Given the description of an element on the screen output the (x, y) to click on. 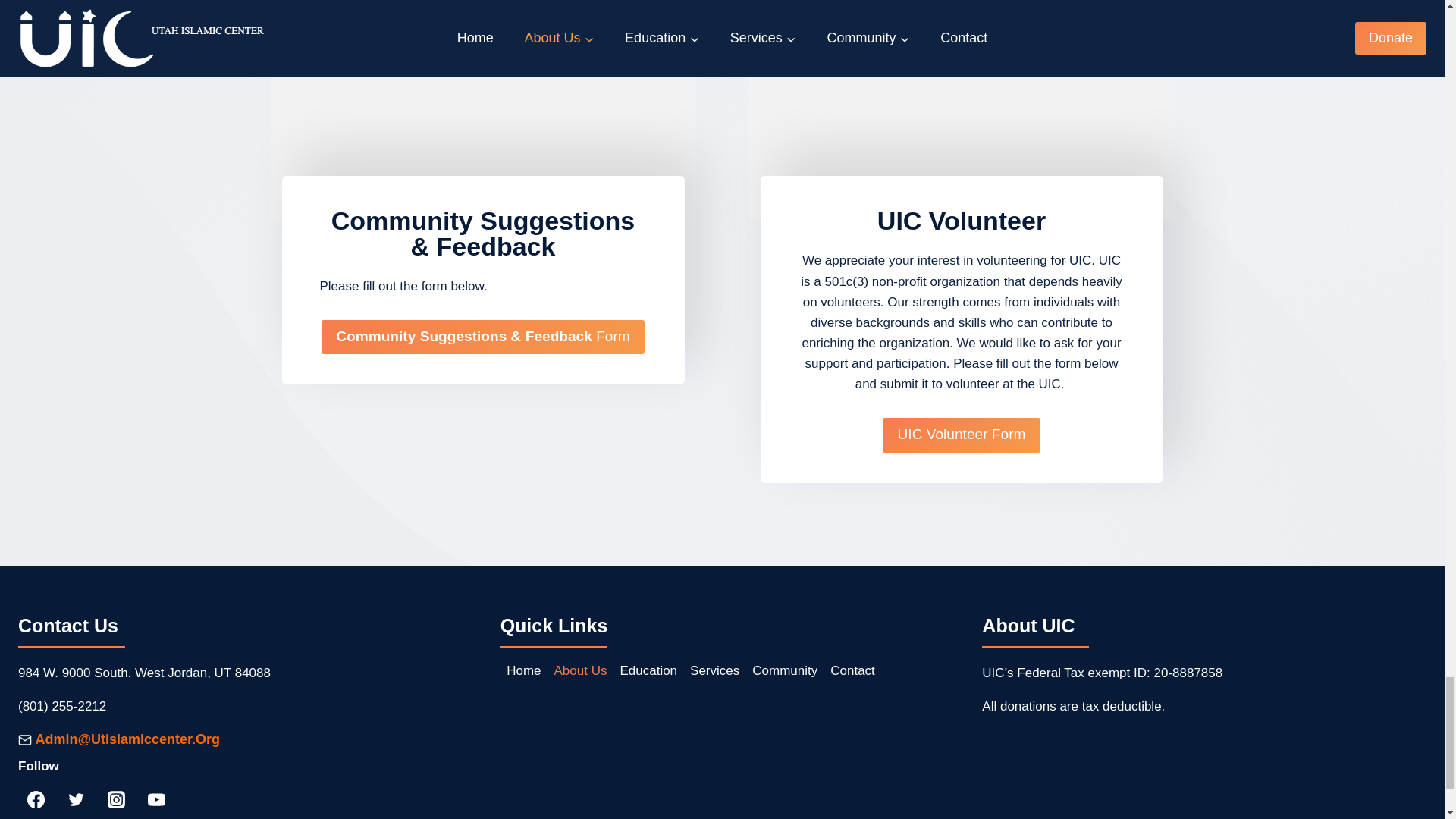
984 W. 9000 South. West Jordan, UT 84088 (143, 672)
About Us (579, 670)
UIC Volunteer Form (960, 434)
Home (523, 670)
